Given the description of an element on the screen output the (x, y) to click on. 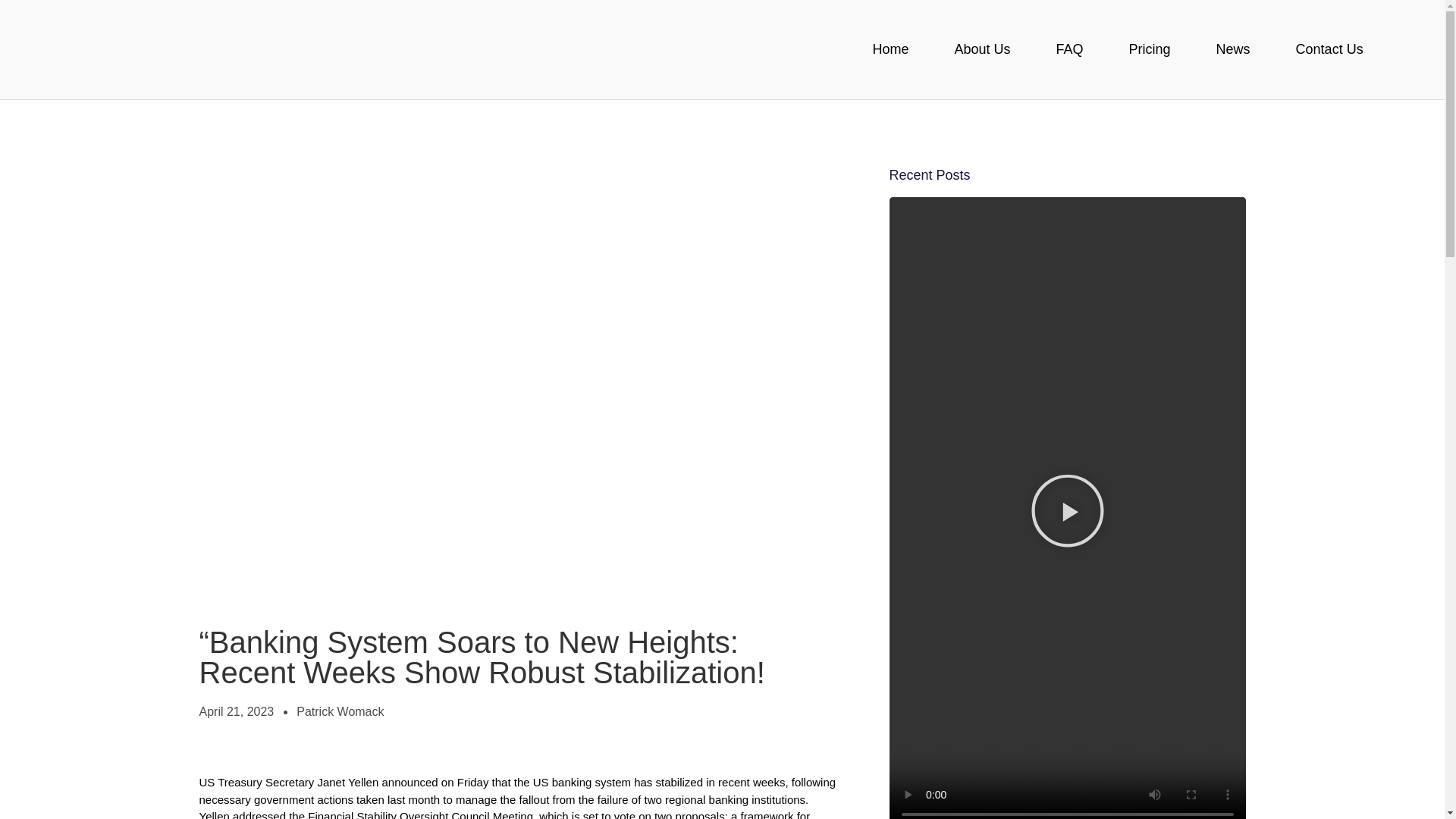
News (1232, 48)
April 21, 2023 (235, 711)
Pricing (1149, 48)
Contact Us (1329, 48)
FAQ (1069, 48)
Patrick Womack (340, 711)
Home (889, 48)
About Us (981, 48)
